Given the description of an element on the screen output the (x, y) to click on. 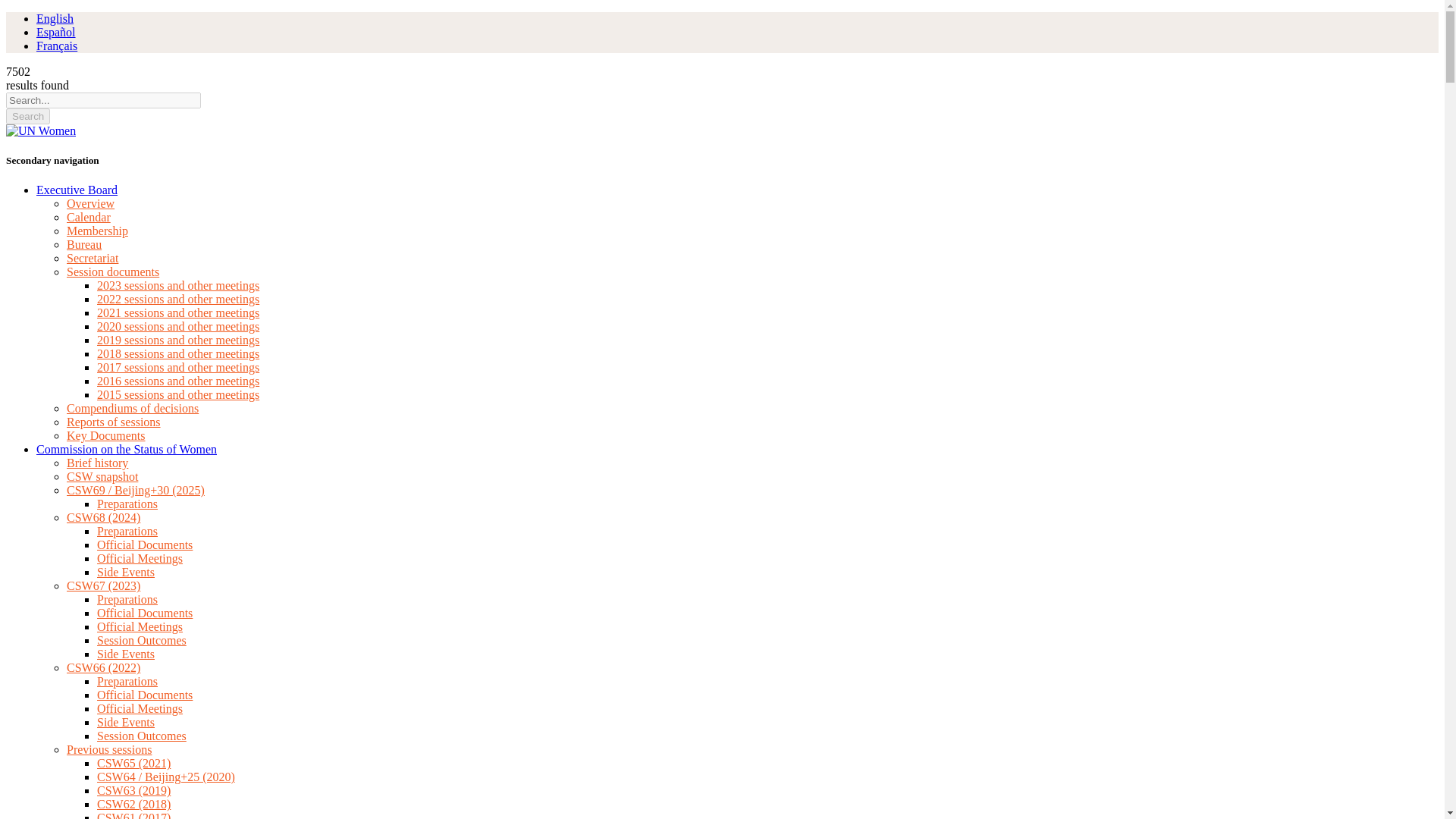
Calendar (88, 216)
Preparations (127, 599)
Side Events (125, 571)
Commission on the Status of Women (126, 449)
Preparations (127, 530)
Search (27, 116)
2018 sessions and other meetings (178, 353)
2022 sessions and other meetings (178, 298)
Reports of sessions (113, 421)
CSW snapshot (102, 476)
2015 sessions and other meetings (178, 394)
Executive Board (76, 189)
2021 sessions and other meetings (178, 312)
2019 sessions and other meetings (178, 339)
English (55, 18)
